Given the description of an element on the screen output the (x, y) to click on. 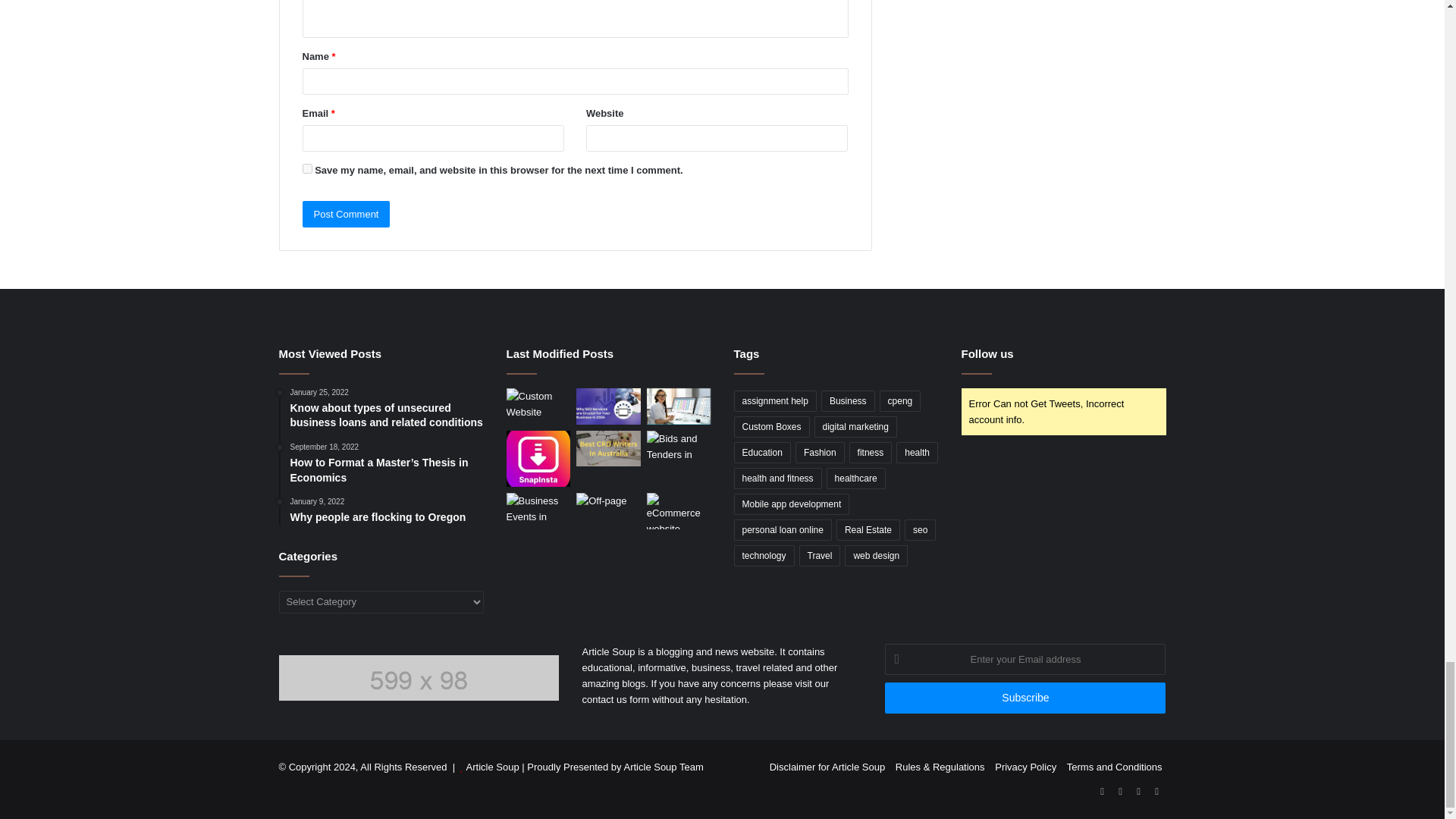
Subscribe (1025, 697)
yes (306, 168)
Post Comment (345, 213)
